Given the description of an element on the screen output the (x, y) to click on. 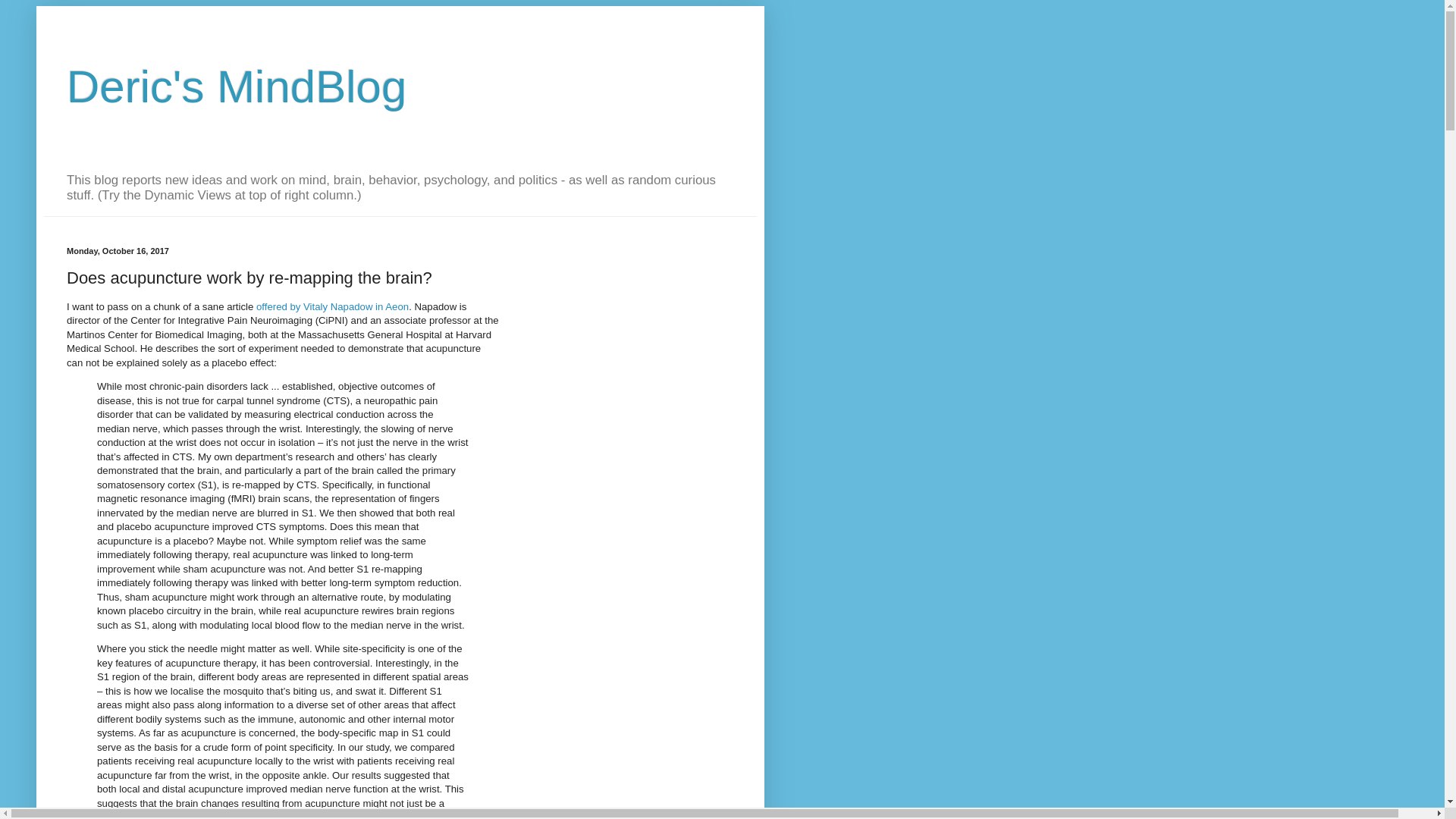
Deric's MindBlog (236, 86)
offered by Vitaly Napadow in Aeon (332, 306)
